Given the description of an element on the screen output the (x, y) to click on. 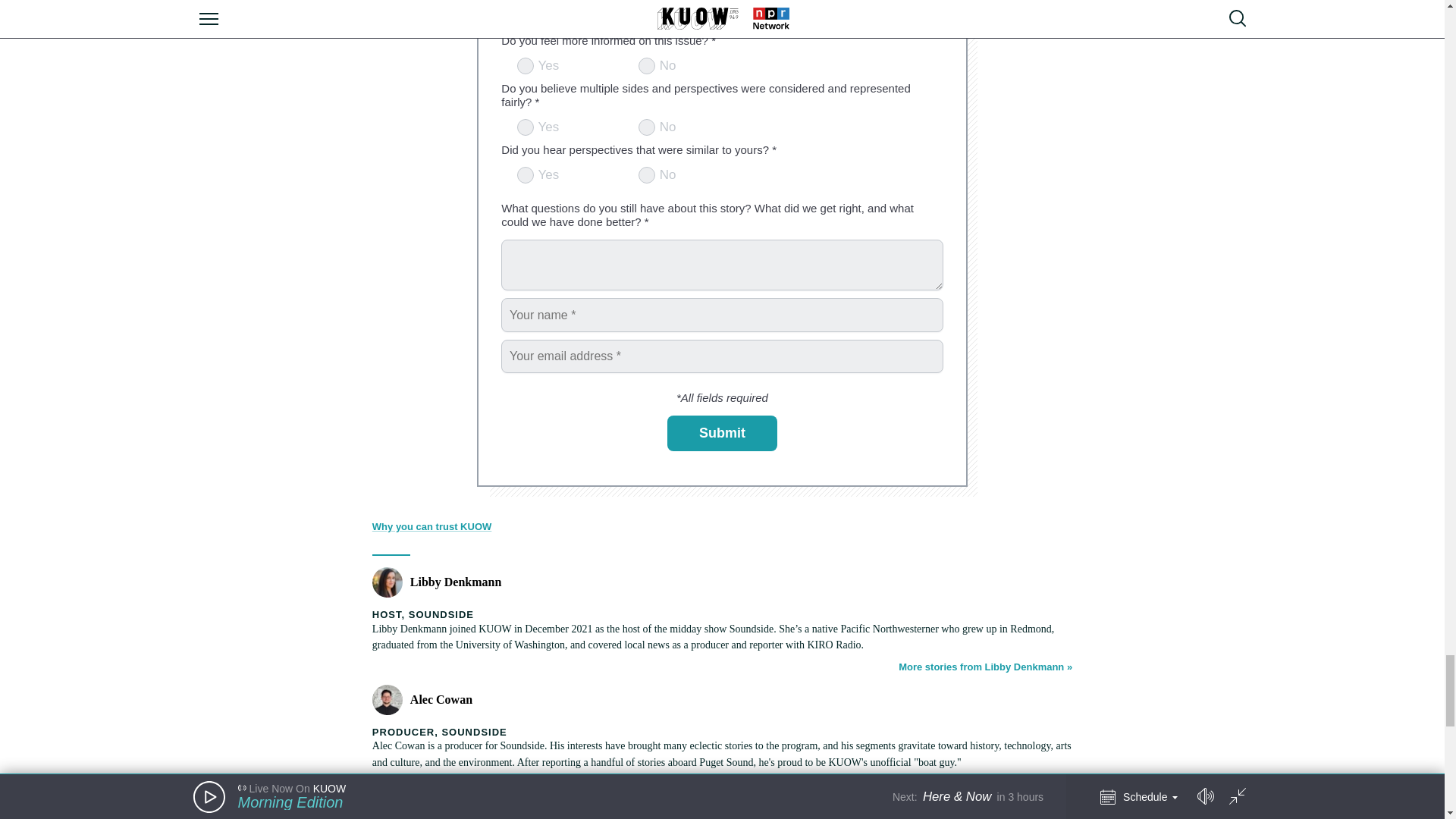
Submit (721, 433)
